Given the description of an element on the screen output the (x, y) to click on. 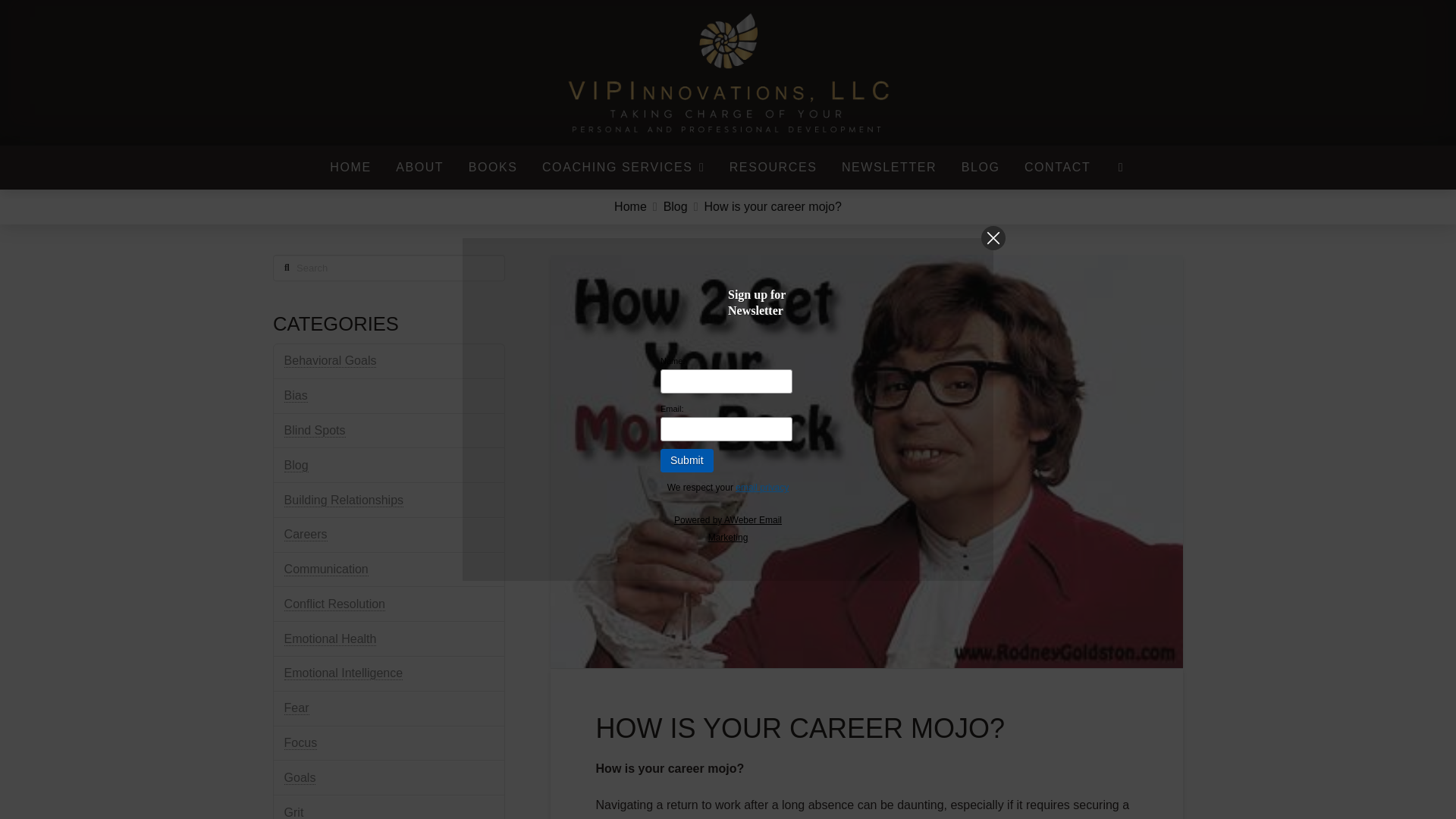
Blog (675, 207)
Focus (300, 743)
Careers (305, 534)
Emotional Intelligence (343, 673)
HOME (349, 167)
Emotional Health (330, 639)
BOOKS (492, 167)
Communication (325, 569)
COACHING SERVICES (622, 167)
Behavioral Goals (330, 360)
How is your career mojo? (772, 207)
Goals (299, 777)
Home (630, 207)
Building Relationships (343, 499)
Blind Spots (314, 430)
